Given the description of an element on the screen output the (x, y) to click on. 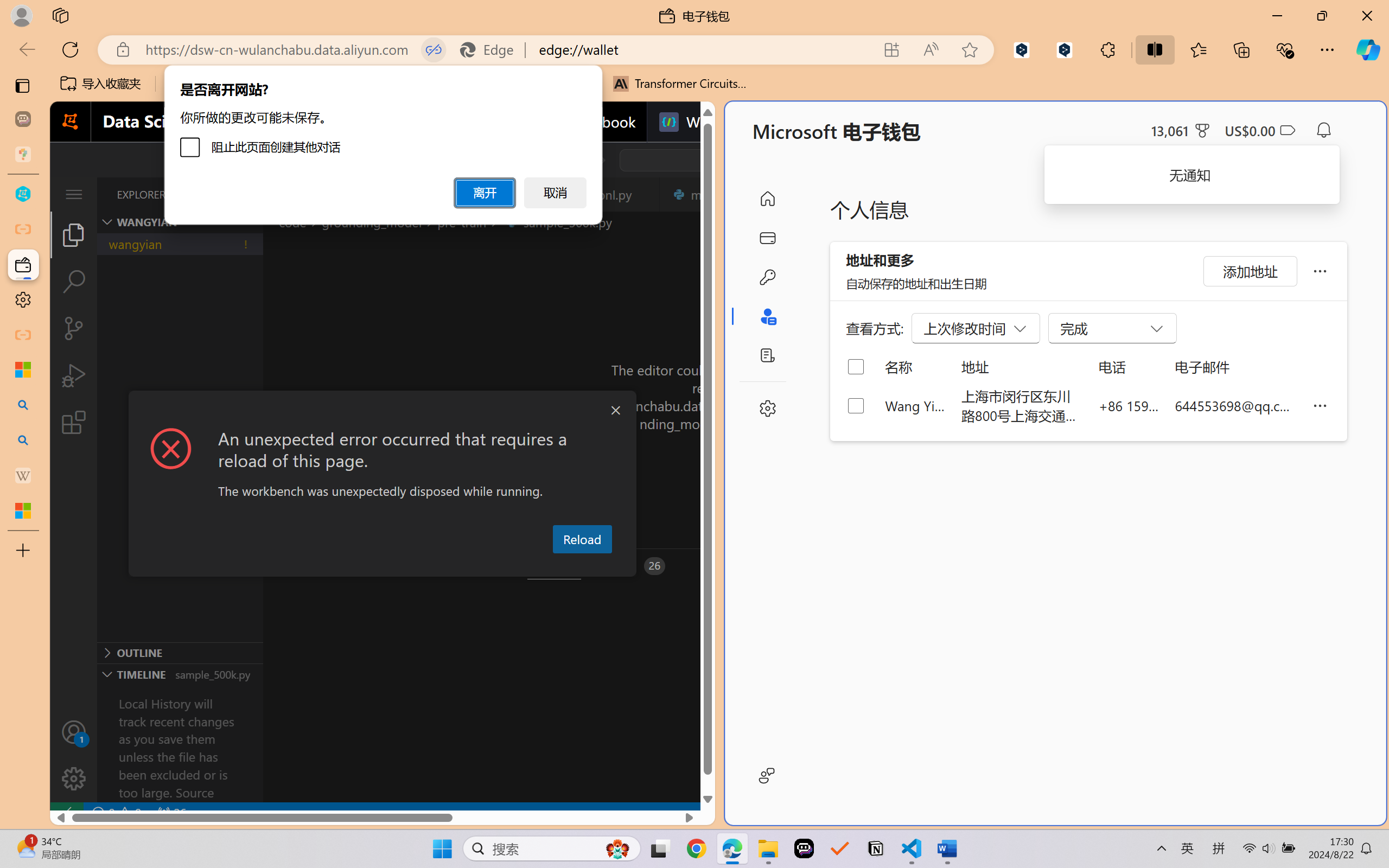
Accounts - Sign in requested (73, 732)
Close Dialog (615, 410)
No Problems (115, 812)
